Given the description of an element on the screen output the (x, y) to click on. 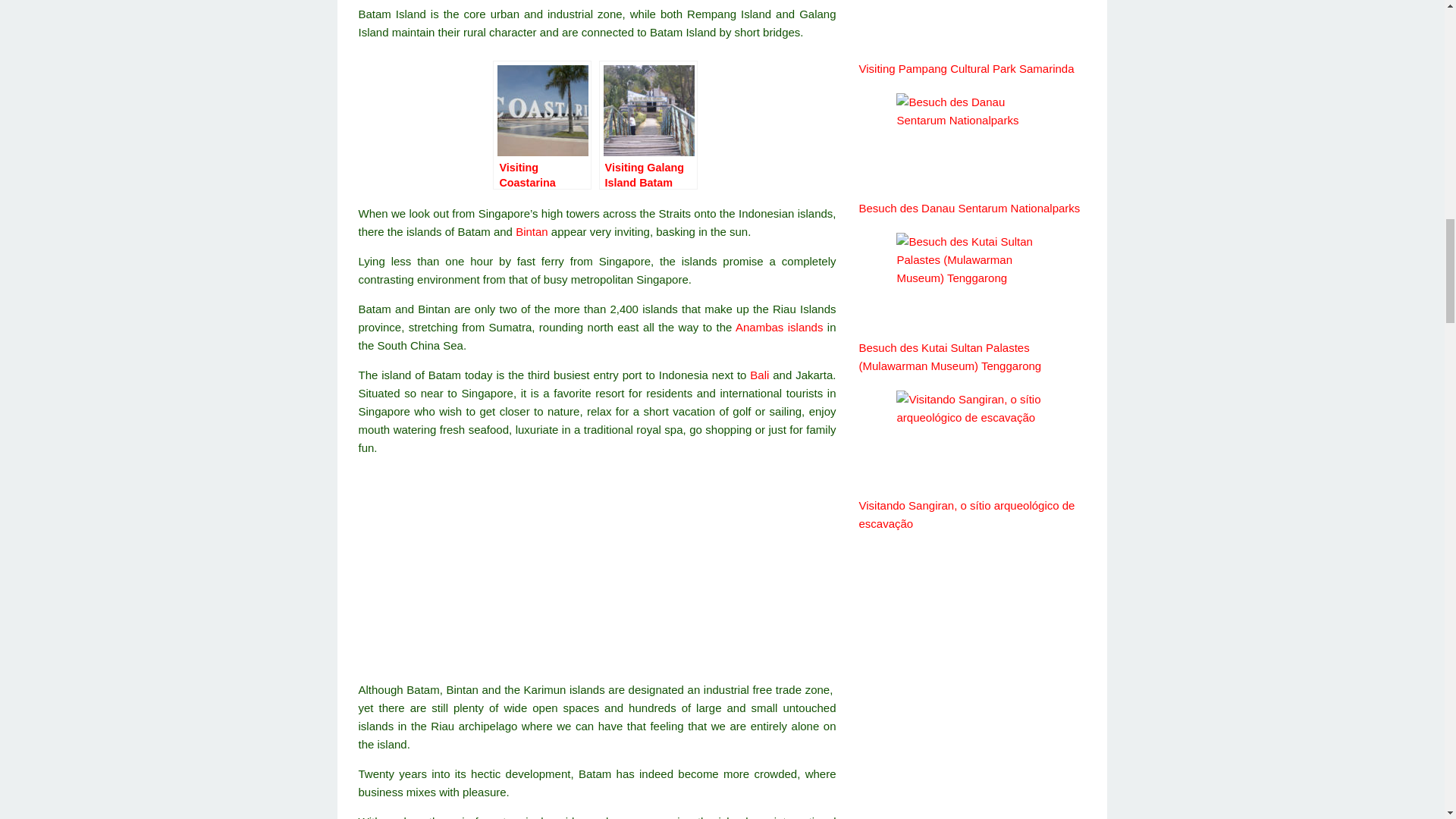
Galang Island (649, 110)
Bali (758, 374)
Bintan (531, 231)
Bintan Island (531, 231)
Anambas islands (778, 327)
Coastarina 2 (542, 110)
Anamblas Islands (778, 327)
